Given the description of an element on the screen output the (x, y) to click on. 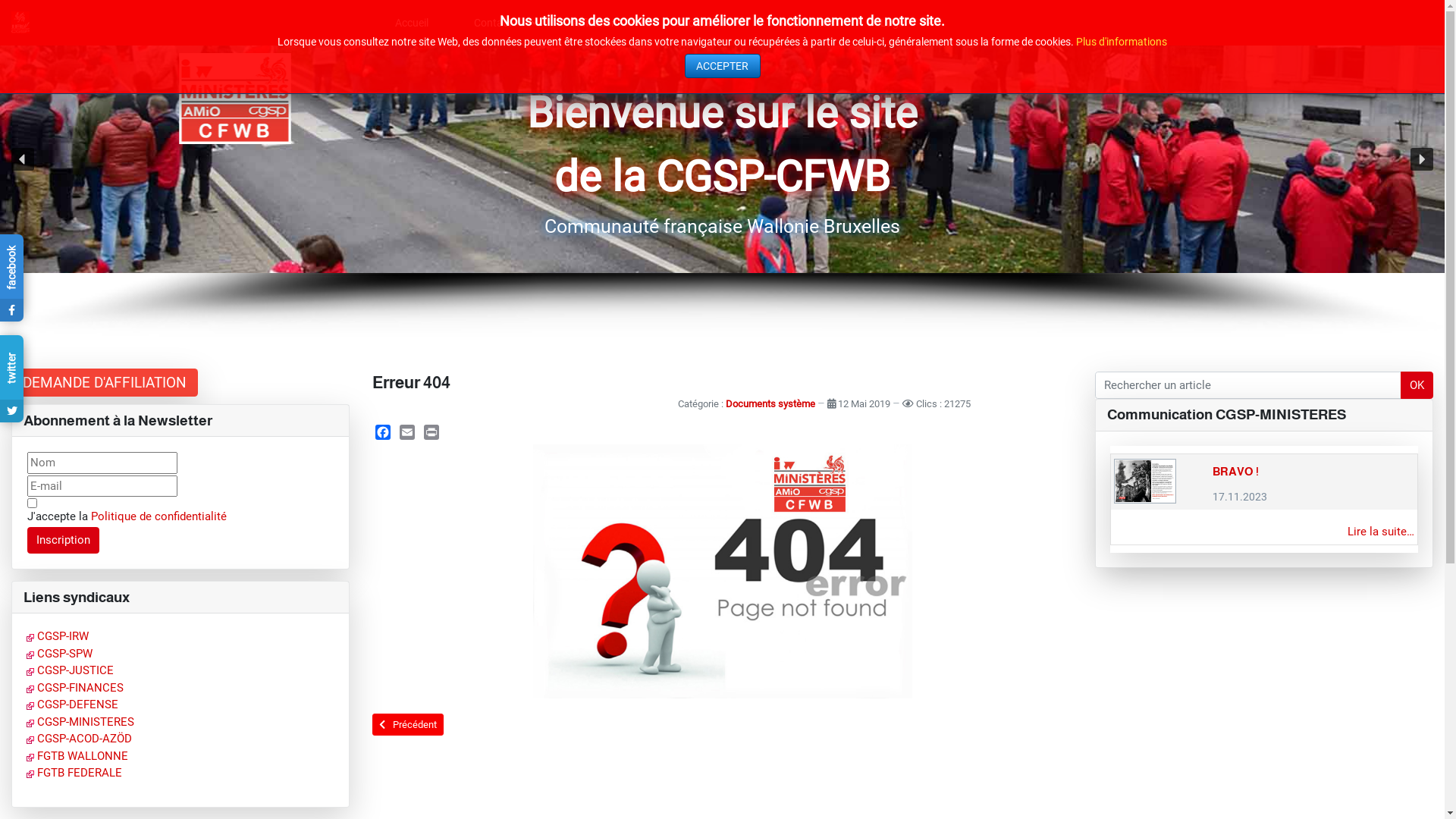
 FGTB FEDERALE Element type: text (74, 772)
Affiliation Element type: text (602, 22)
Archives Element type: text (705, 22)
Facebook Element type: text (382, 431)
Print Element type: text (431, 431)
Inscription Element type: text (63, 540)
Nos actions Element type: text (806, 22)
OK Element type: text (1416, 384)
Contact Element type: text (500, 22)
 CGSP-FINANCES Element type: text (74, 687)
 CGSP-MINISTERES Element type: text (80, 721)
 CGSP-JUSTICE Element type: text (69, 670)
 FGTB WALLONNE Element type: text (77, 755)
DEMANDE D'AFFILIATION Element type: text (104, 382)
 CGSP-IRW Element type: text (57, 636)
Plus d'informations Element type: text (1121, 41)
BRAVO ! Element type: text (1235, 471)
Login Element type: text (900, 22)
 CGSP-SPW Element type: text (59, 653)
Email Element type: text (406, 431)
Accueil Element type: text (411, 22)
 CGSP-DEFENSE Element type: text (72, 704)
Termes et conditions Element type: hover (32, 503)
